Given the description of an element on the screen output the (x, y) to click on. 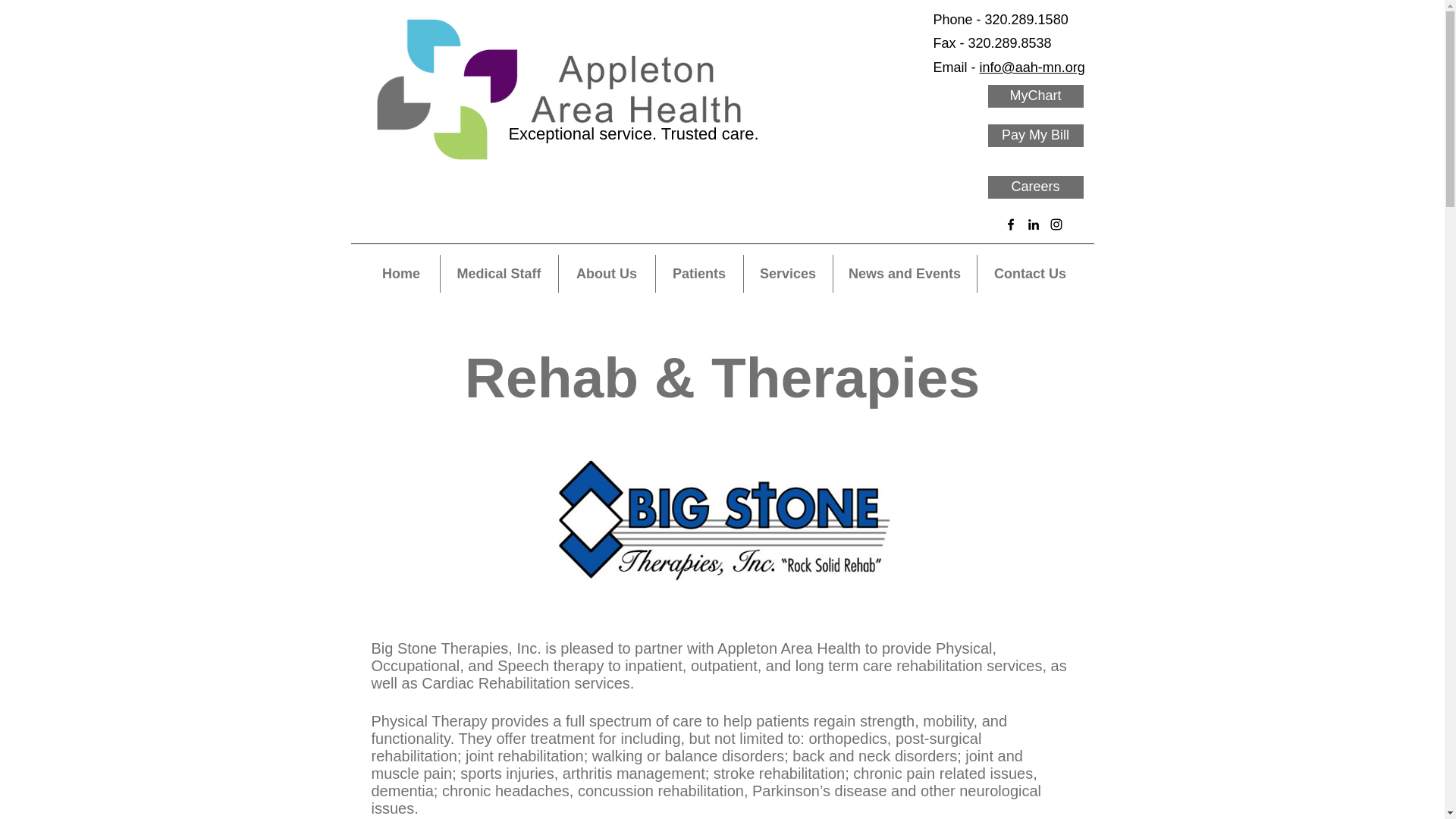
Home (400, 273)
Email - (955, 67)
Pay My Bill (1035, 135)
MyChart (1035, 96)
Services (787, 273)
Medical Staff (498, 273)
About Us (606, 273)
Careers (1035, 187)
Patients (698, 273)
